Given the description of an element on the screen output the (x, y) to click on. 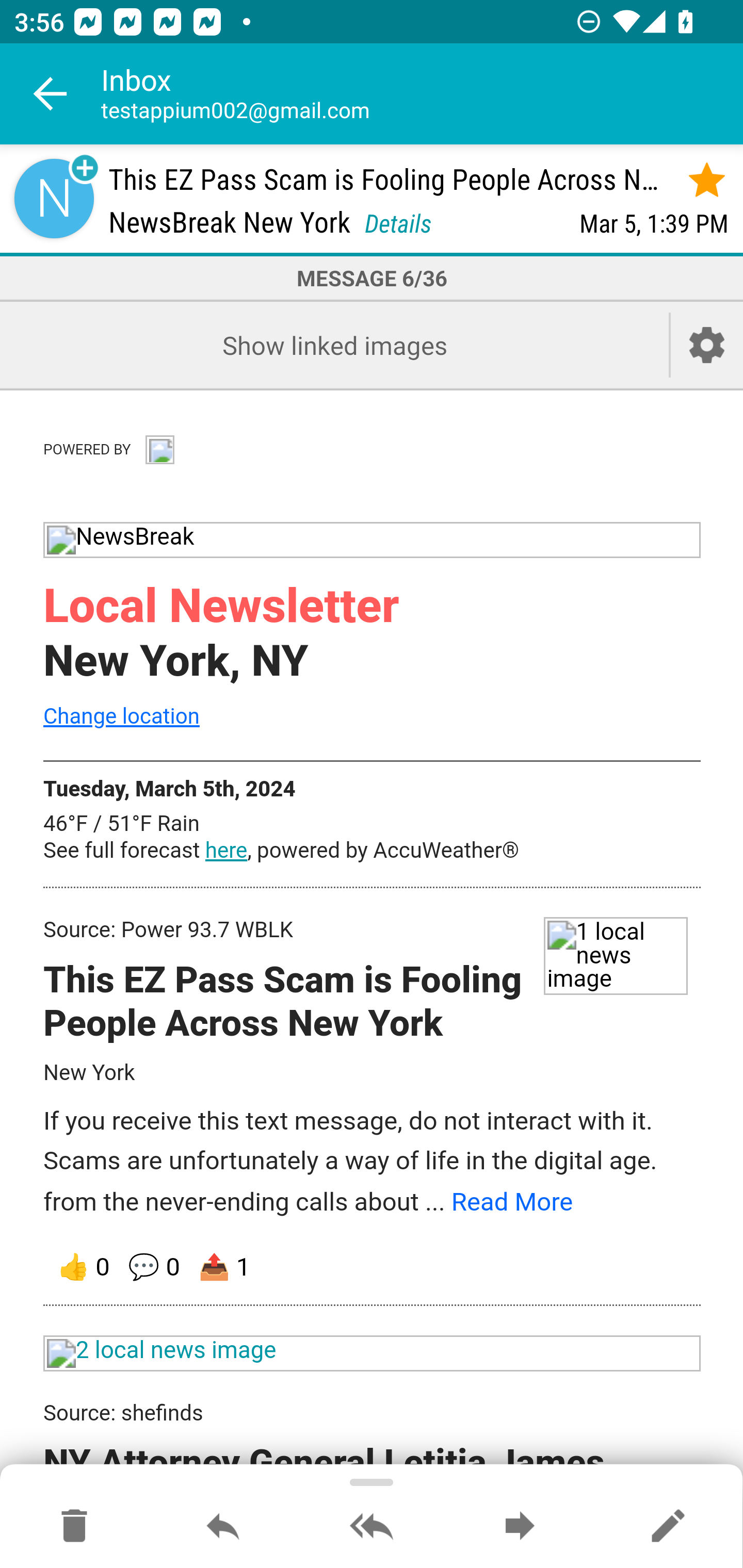
Navigate up (50, 93)
Inbox testappium002@gmail.com (422, 93)
Sender contact button (53, 198)
Show linked images (334, 344)
Account setup (706, 344)
info (159, 447)
Change location (121, 715)
here (225, 850)
👍 0   💬 0   📤 1 (372, 1267)
2 local news image (372, 1353)
Move to Deleted (74, 1527)
Reply (222, 1527)
Reply all (371, 1527)
Forward (519, 1527)
Reply as new (667, 1527)
